Given the description of an element on the screen output the (x, y) to click on. 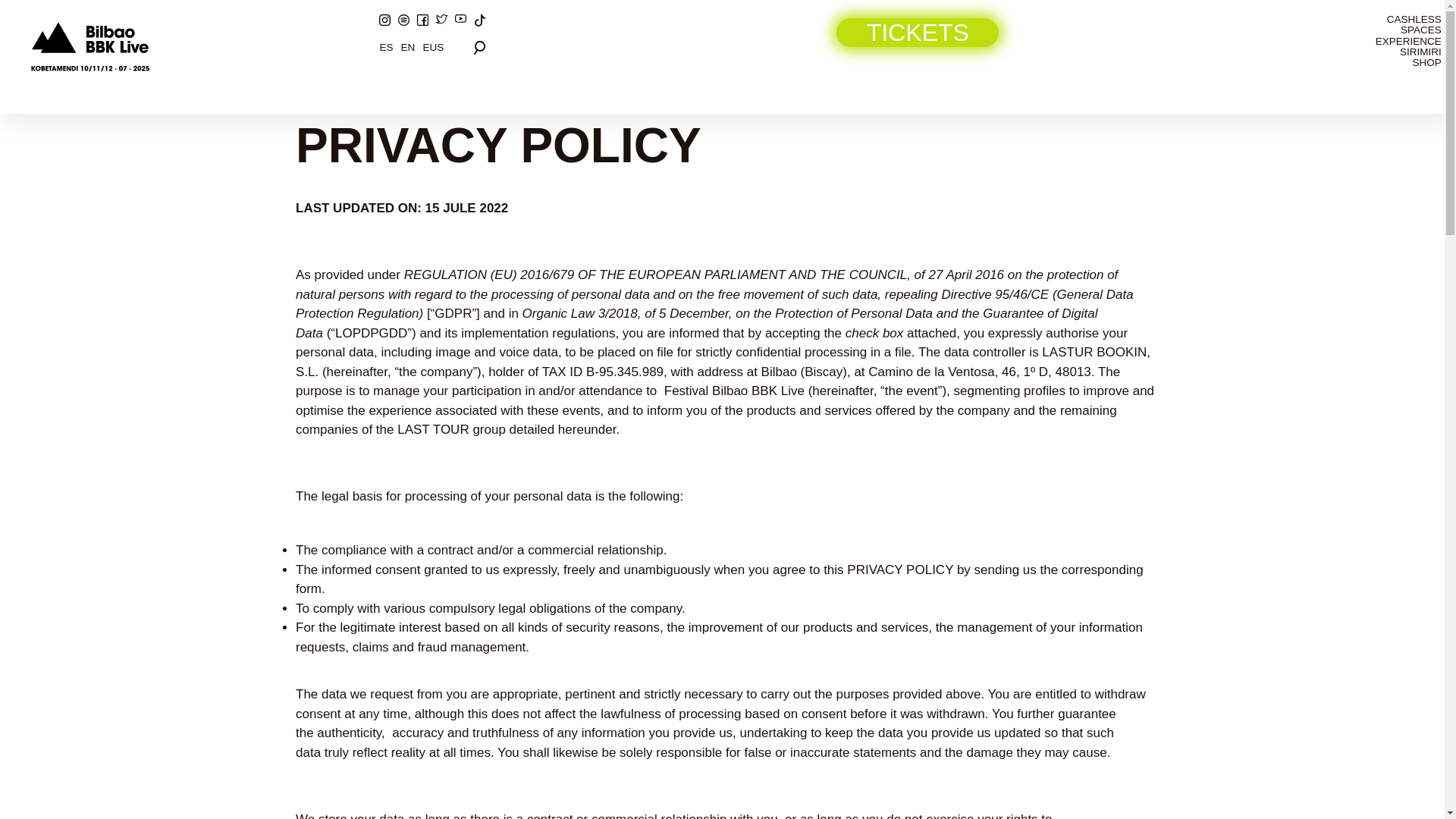
ES (386, 46)
EUS (433, 46)
SHOP (1399, 62)
EXPERIENCE (1399, 41)
TICKETS (916, 32)
SIRIMIRI (1399, 51)
SPACES (1399, 30)
EN (407, 46)
CASHLESS (1399, 19)
